Given the description of an element on the screen output the (x, y) to click on. 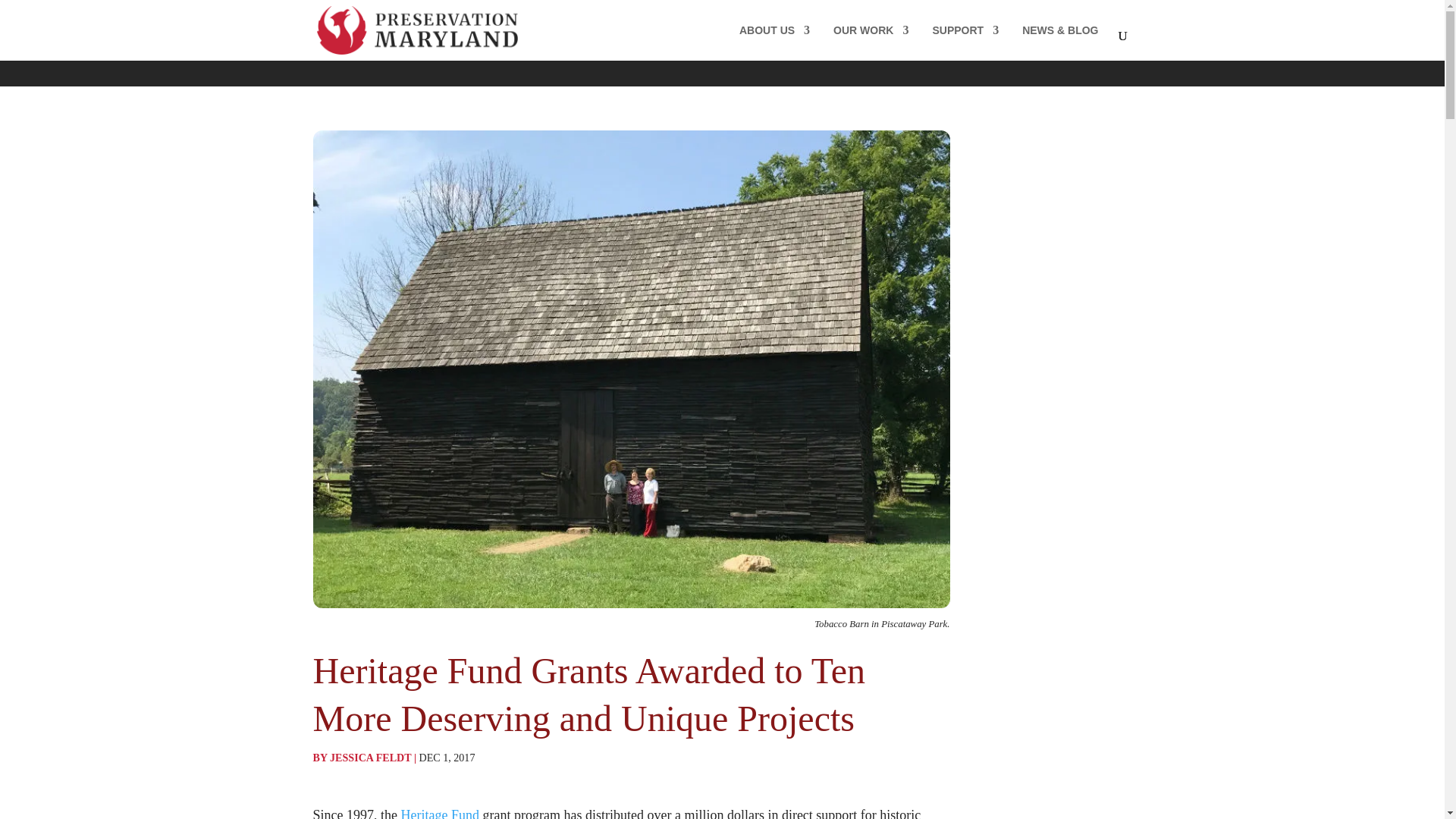
OUR WORK (870, 42)
Posts by Jessica Feldt (370, 757)
ABOUT US (774, 42)
